Given the description of an element on the screen output the (x, y) to click on. 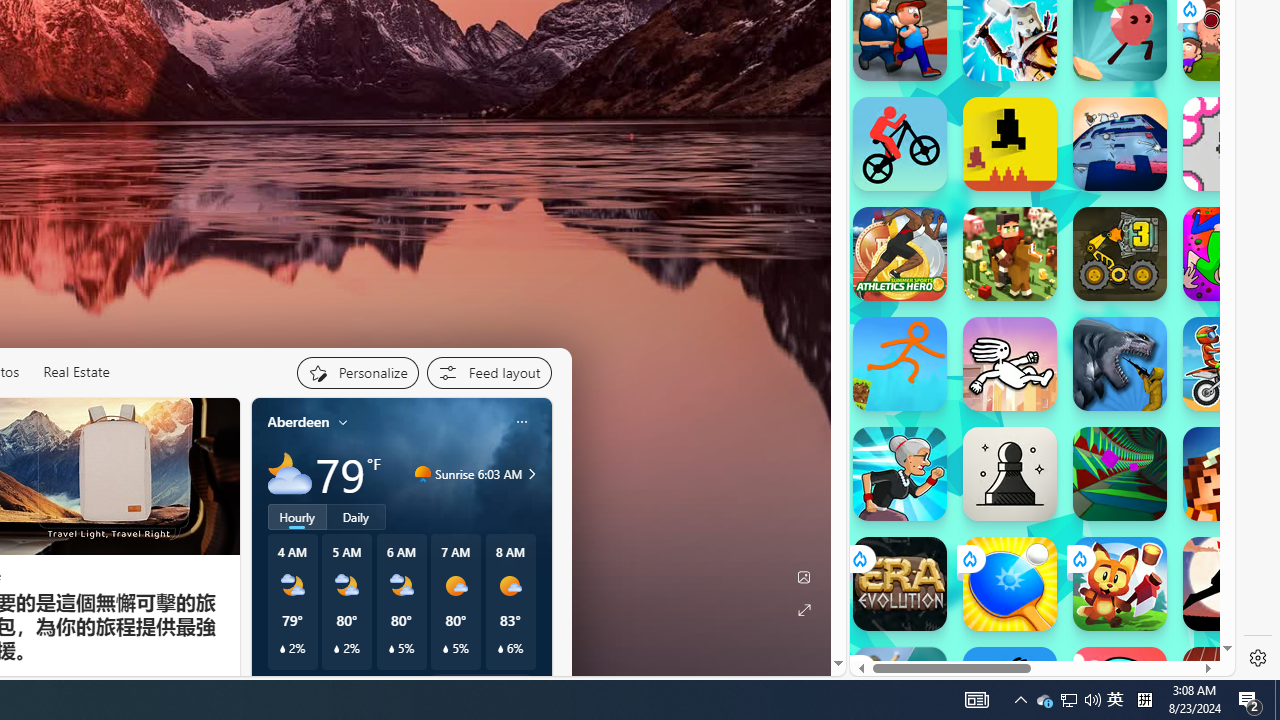
Fox Island Builder (1119, 583)
Big Tower Tiny Square (1119, 143)
Games for Girls (1042, 29)
Ping Pong Go! (1009, 583)
Sharkosaurus Rampage (1119, 363)
Dreadhead Parkour (1009, 363)
JollyWorld JollyWorld (1229, 253)
Angry Gran Run Angry Gran Run (899, 473)
Poki (1034, 641)
Hills of Steel (943, 233)
